Given the description of an element on the screen output the (x, y) to click on. 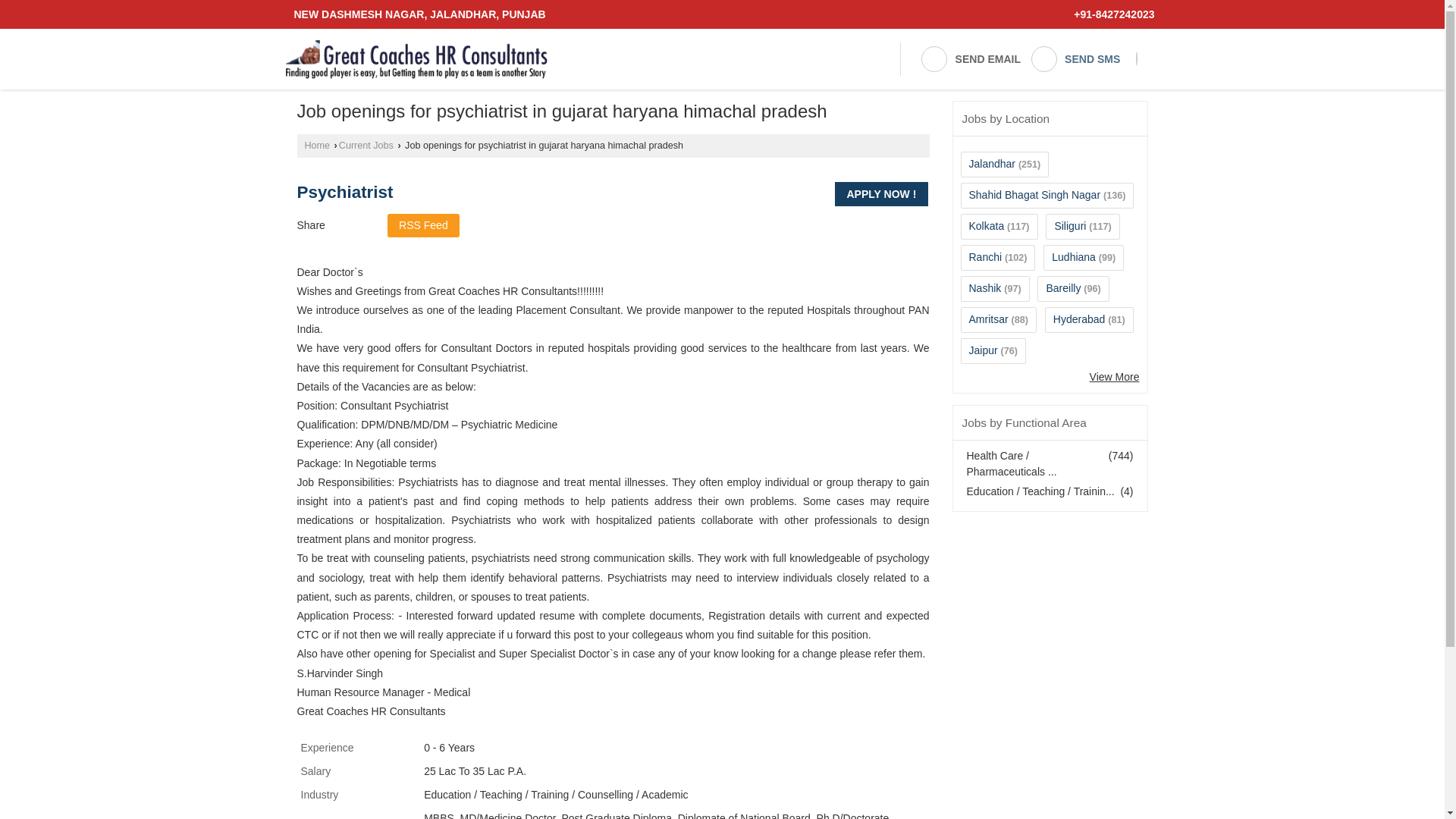
SEND SMS (1075, 59)
Current Jobs (366, 145)
APPLY NOW ! (881, 193)
Great Coaches HR Consultants (416, 59)
APPLY NOW ! (881, 193)
RSS Feed (423, 225)
Home (317, 145)
SEND EMAIL (970, 59)
